Given the description of an element on the screen output the (x, y) to click on. 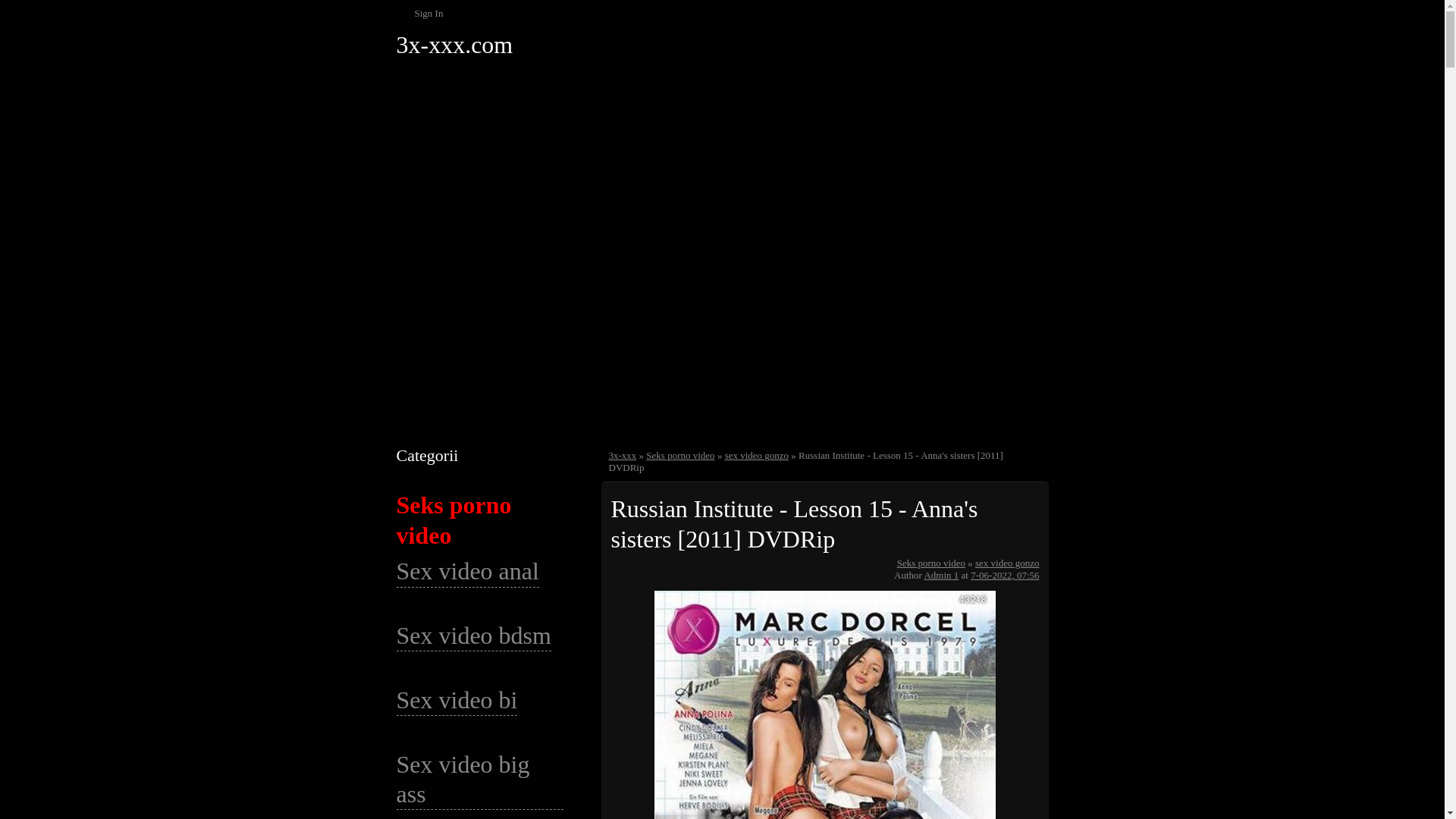
Sex video bdsm Element type: text (472, 636)
Seks porno video Element type: text (680, 455)
Sex video big ass Element type: text (478, 779)
sex video gonzo Element type: text (756, 455)
Seks porno video Element type: text (453, 519)
7-06-2022, 07:56 Element type: text (1004, 574)
Categorii Element type: text (426, 454)
5 Element type: text (668, 563)
2 Element type: text (629, 563)
Sign In Element type: text (437, 13)
sex video gonzo Element type: text (1006, 562)
Sex video bi Element type: text (456, 700)
Admin 1 Element type: text (940, 574)
3x-xxx Element type: text (622, 455)
1 Element type: text (617, 563)
3 Element type: text (643, 563)
Seks porno video Element type: text (931, 562)
Sex video anal Element type: text (466, 571)
4 Element type: text (655, 563)
